Given the description of an element on the screen output the (x, y) to click on. 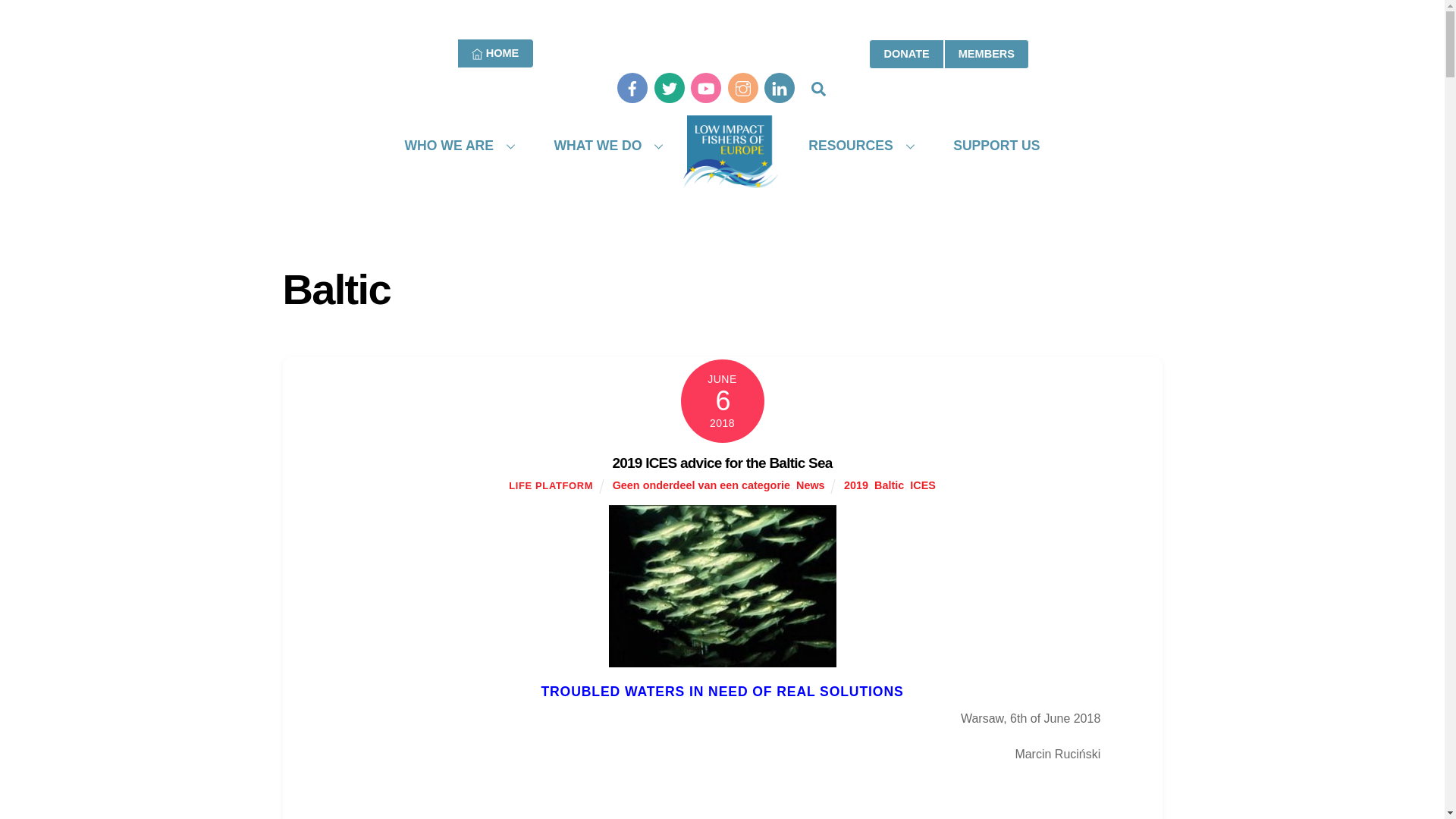
DONATE MEMBERS (949, 53)
RESOURCES (856, 145)
SUPPORT US (996, 145)
Baltic (889, 485)
WHO WE ARE (454, 145)
HOME (495, 53)
ICES (923, 485)
HOME (721, 130)
LIFE PLATFORM (495, 53)
